Given the description of an element on the screen output the (x, y) to click on. 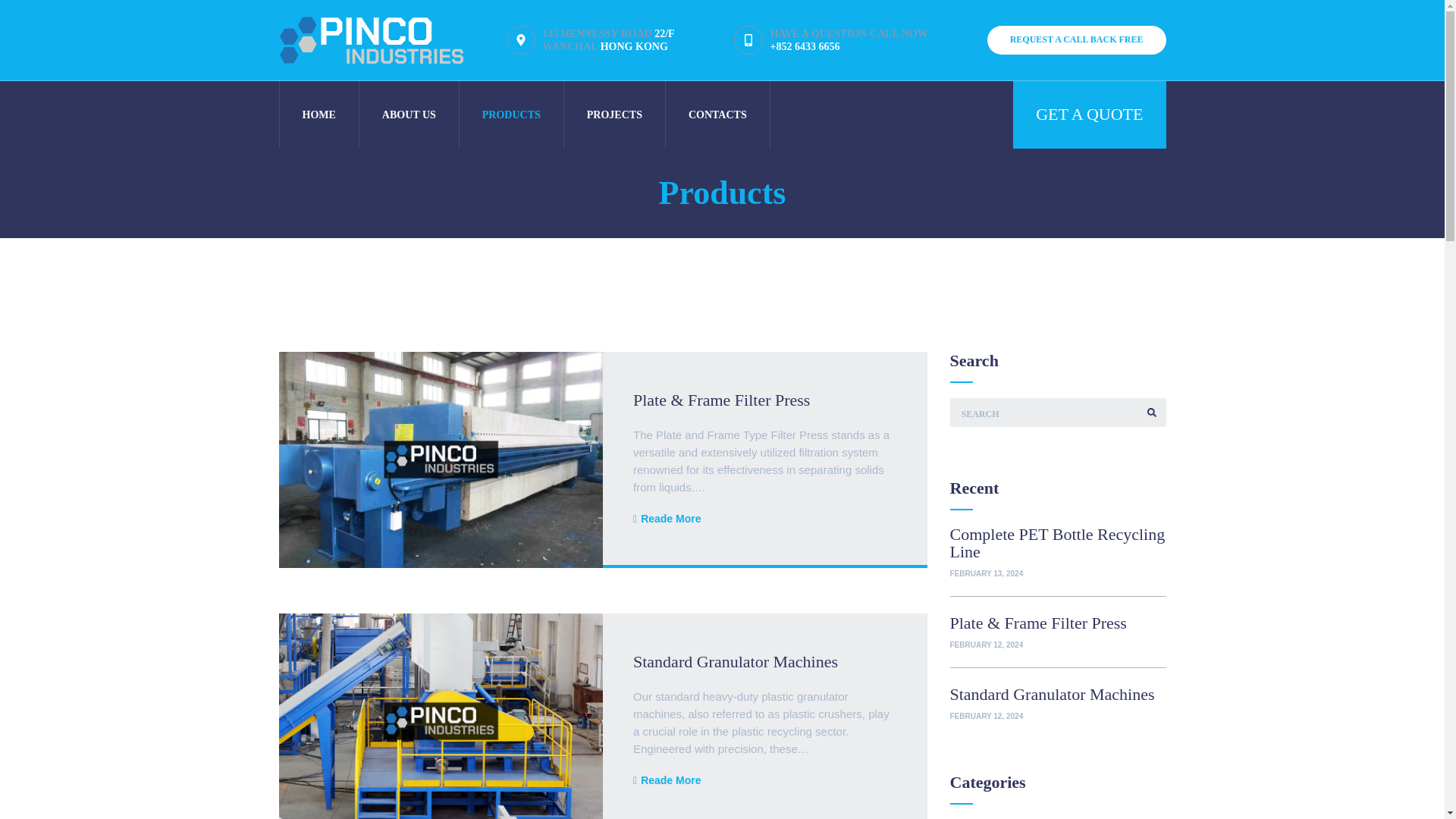
HOME (318, 114)
PRODUCTS (511, 114)
PROJECTS (614, 114)
ABOUT US (666, 780)
CONTACTS (408, 114)
GET A QUOTE (717, 114)
Standard Granulator Machines (1089, 114)
REQUEST A CALL BACK FREE (735, 660)
